Given the description of an element on the screen output the (x, y) to click on. 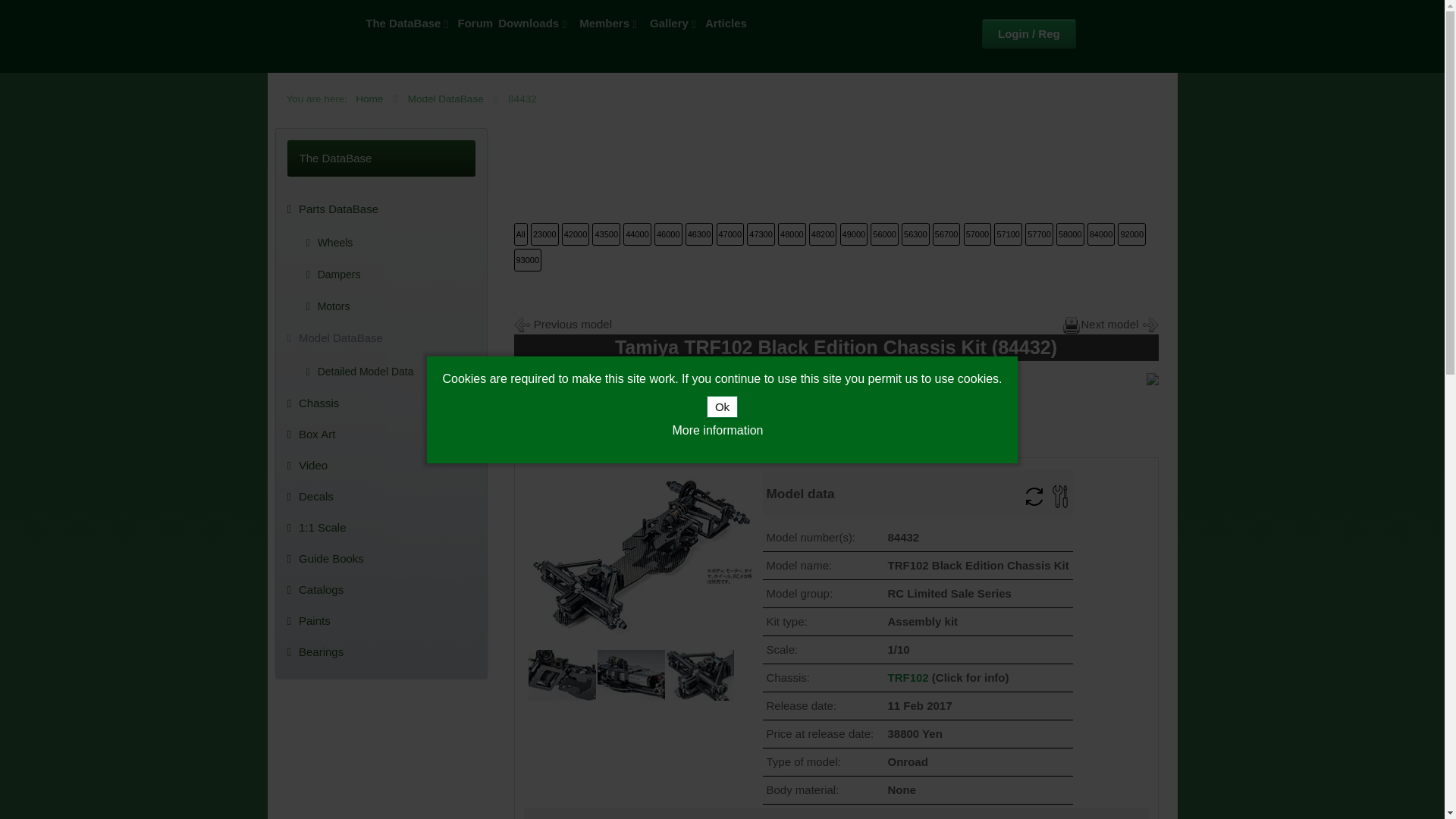
RC Tank Series (884, 233)
Articles (725, 22)
Special Project Item (760, 233)
TamTech Gear (1008, 233)
TRF Series (575, 233)
58000 (1070, 233)
84000 (1101, 233)
Complete kit series (977, 233)
23000 (545, 233)
TamTech Gear XB (946, 233)
